Given the description of an element on the screen output the (x, y) to click on. 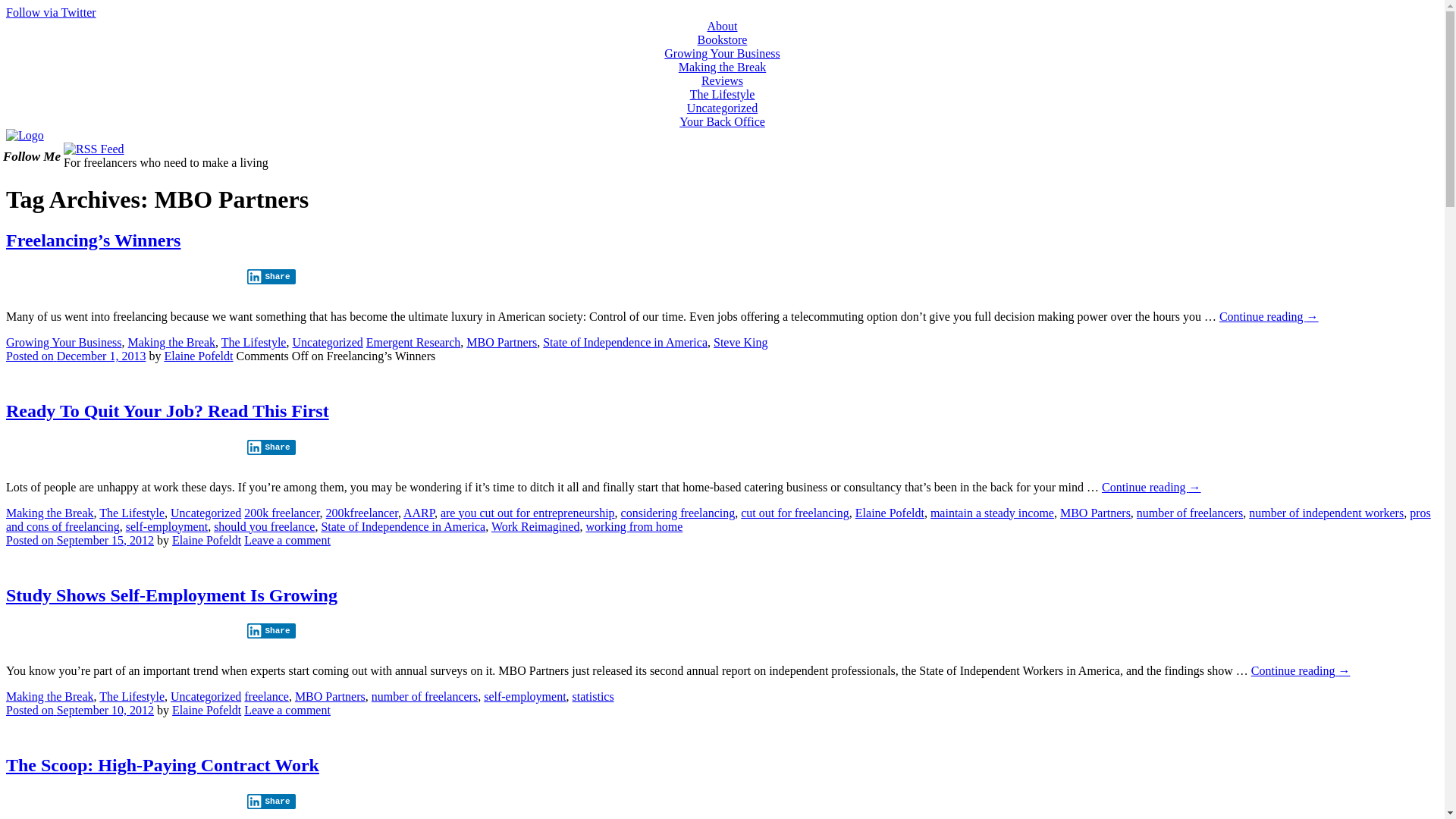
Bookstore Element type: text (722, 39)
Leave a comment Element type: text (287, 539)
cut out for freelancing Element type: text (794, 512)
The Lifestyle Element type: text (131, 512)
Uncategorized Element type: text (205, 512)
MBO Partners Element type: text (501, 341)
Work Reimagined Element type: text (535, 526)
Leave a comment Element type: text (287, 709)
The Lifestyle Element type: text (253, 341)
Follow via Twitter Element type: text (51, 12)
statistics Element type: text (593, 696)
MBO Partners Element type: text (1095, 512)
Share Element type: text (271, 801)
200k freelancer Element type: text (281, 512)
Growing Your Business Element type: text (721, 53)
AARP Element type: text (418, 512)
About Element type: text (721, 25)
Making the Break Element type: text (171, 341)
Making the Break Element type: text (50, 512)
Reviews Element type: text (722, 80)
Share Element type: text (271, 630)
self-employment Element type: text (524, 696)
working from home Element type: text (633, 526)
200KFREELANCER Element type: hover (24, 134)
Posted on September 10, 2012 Element type: text (79, 709)
Ready To Quit Your Job? Read This First Element type: text (167, 410)
Uncategorized Element type: text (326, 341)
considering freelancing Element type: text (678, 512)
Your Back Office Element type: text (722, 121)
Elaine Pofeldt Element type: text (206, 539)
should you freelance Element type: text (263, 526)
Study Shows Self-Employment Is Growing Element type: text (171, 595)
Share Element type: text (271, 447)
State of Independence in America Element type: text (624, 341)
Share Element type: text (271, 276)
number of independent workers Element type: text (1325, 512)
Elaine Pofeldt Element type: text (206, 709)
freelance Element type: text (266, 696)
MBO Partners Element type: text (329, 696)
The Scoop: High-Paying Contract Work Element type: text (162, 765)
Growing Your Business Element type: text (63, 341)
Steve King Element type: text (740, 341)
200kfreelancer Element type: text (362, 512)
Posted on December 1, 2013 Element type: text (75, 355)
maintain a steady income Element type: text (992, 512)
number of freelancers Element type: text (1189, 512)
The Lifestyle Element type: text (722, 93)
Uncategorized Element type: text (722, 107)
Elaine Pofeldt Element type: text (889, 512)
Making the Break Element type: text (722, 66)
Emergent Research Element type: text (413, 341)
Elaine Pofeldt Element type: text (197, 355)
Making the Break Element type: text (50, 696)
State of Independence in America Element type: text (402, 526)
number of freelancers Element type: text (424, 696)
RSS Feed Element type: hover (93, 148)
pros and cons of freelancing Element type: text (718, 519)
Uncategorized Element type: text (205, 696)
The Lifestyle Element type: text (131, 696)
Posted on September 15, 2012 Element type: text (79, 539)
are you cut out for entrepreneurship Element type: text (527, 512)
self-employment Element type: text (166, 526)
